Given the description of an element on the screen output the (x, y) to click on. 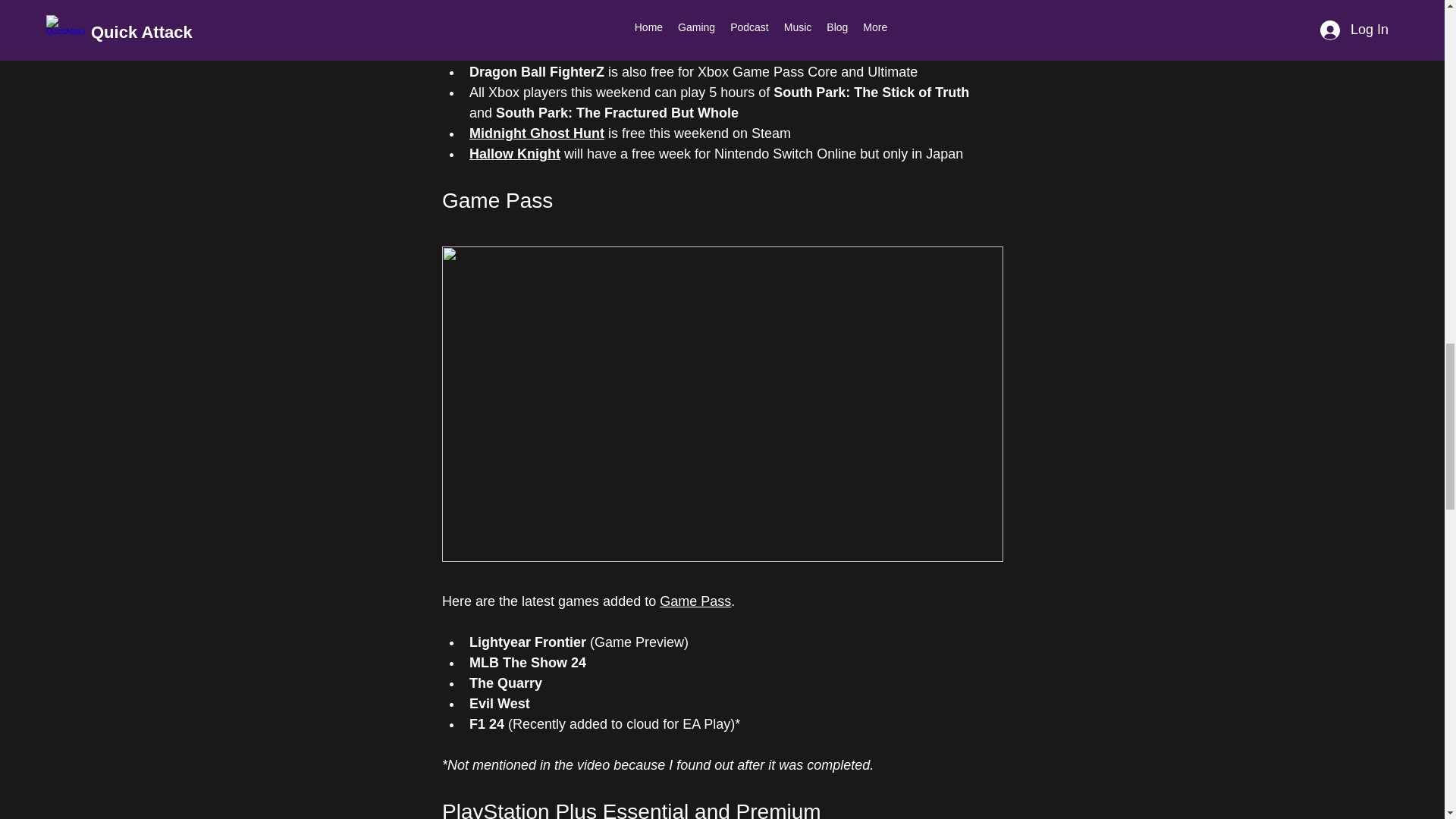
Xbox for Game Pass Core (715, 40)
Midnight Ghost Hunt (536, 133)
Game Pass (694, 601)
Hallow Knight (513, 152)
